Given the description of an element on the screen output the (x, y) to click on. 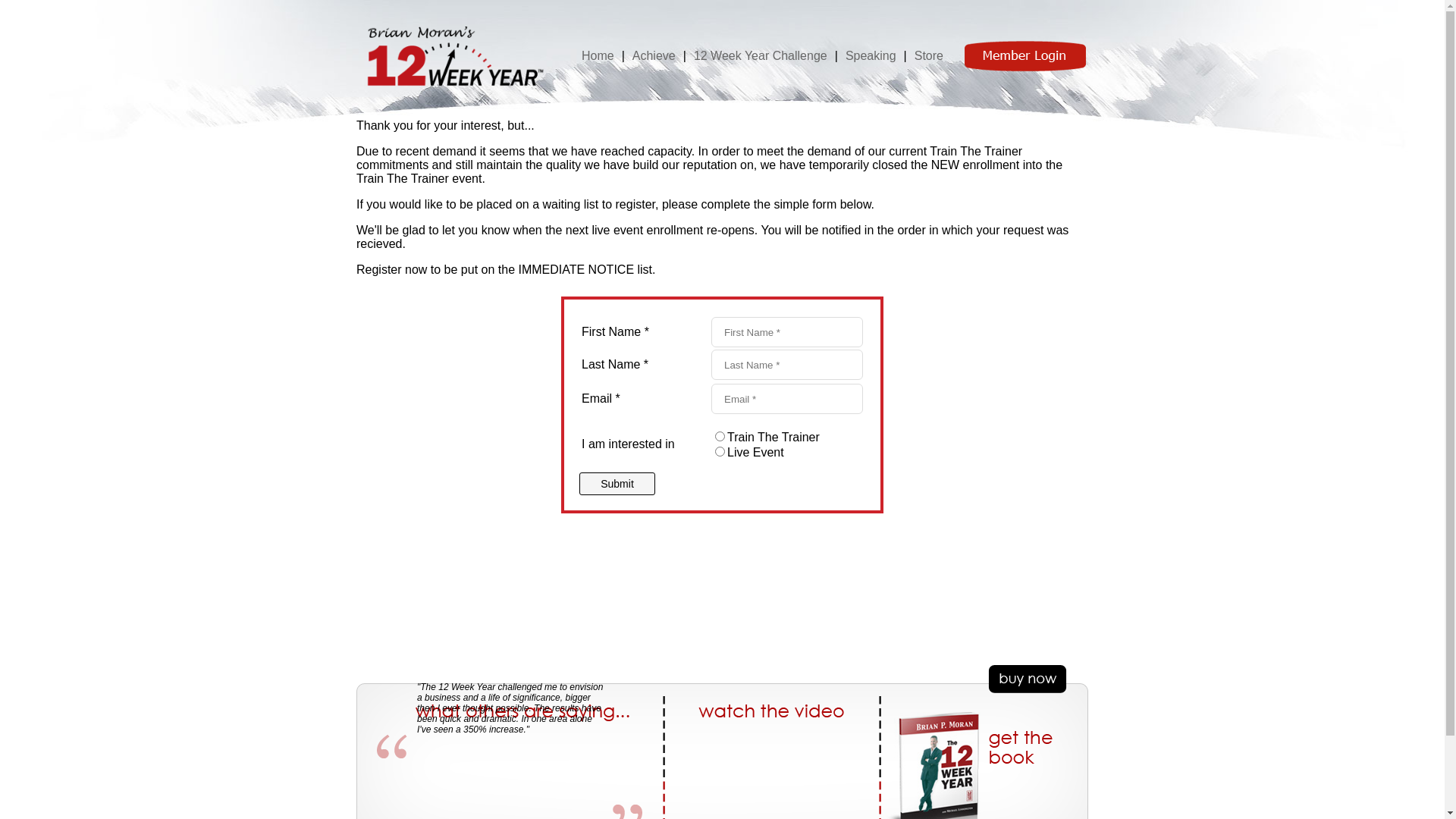
Speaking Element type: text (870, 54)
Store Element type: text (928, 54)
12 Week Year Challenge Element type: text (760, 54)
Home Element type: text (597, 54)
Achieve Element type: text (653, 54)
